Given the description of an element on the screen output the (x, y) to click on. 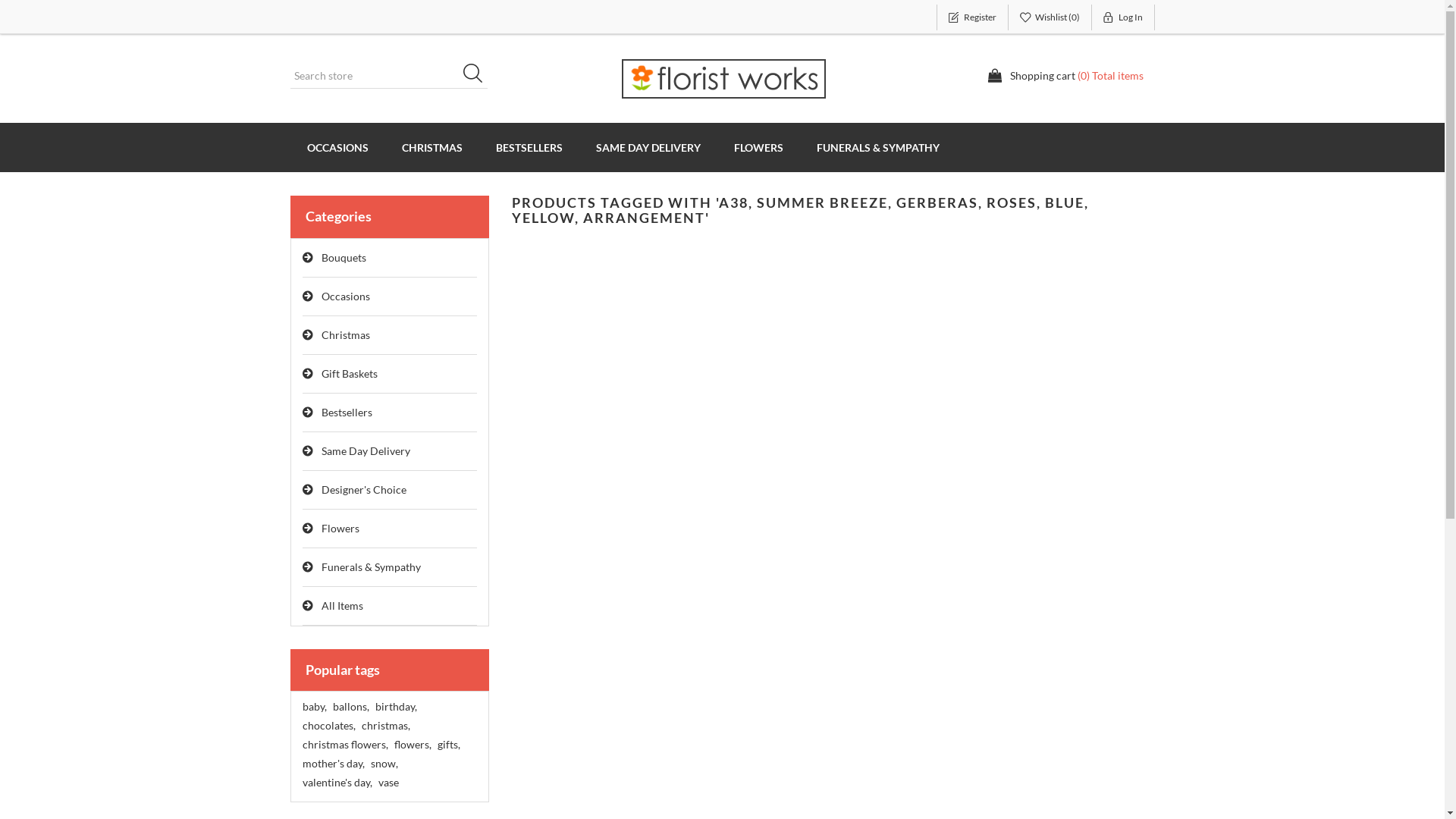
Shopping cart (0) Total items Element type: text (1065, 75)
mother's day, Element type: text (332, 763)
Bestsellers Element type: text (388, 412)
Register Element type: text (971, 17)
FUNERALS & SYMPATHY Element type: text (877, 147)
Christmas Element type: text (388, 335)
Wishlist (0) Element type: text (1050, 17)
FLOWERS Element type: text (758, 147)
christmas flowers, Element type: text (344, 744)
Designer's Choice Element type: text (388, 489)
flowers, Element type: text (412, 744)
SAME DAY DELIVERY Element type: text (648, 147)
Occasions Element type: text (388, 296)
gifts, Element type: text (447, 744)
vase Element type: text (387, 782)
CHRISTMAS Element type: text (432, 147)
Funerals & Sympathy Element type: text (388, 567)
birthday, Element type: text (395, 706)
Flowers Element type: text (388, 528)
snow, Element type: text (383, 763)
OCCASIONS Element type: text (336, 147)
All Items Element type: text (388, 605)
chocolates, Element type: text (327, 725)
Gift Baskets Element type: text (388, 373)
baby, Element type: text (313, 706)
BESTSELLERS Element type: text (529, 147)
valentine's day, Element type: text (336, 782)
Log In Element type: text (1123, 17)
Bouquets Element type: text (388, 257)
christmas, Element type: text (384, 725)
Same Day Delivery Element type: text (388, 451)
ballons, Element type: text (350, 706)
